Given the description of an element on the screen output the (x, y) to click on. 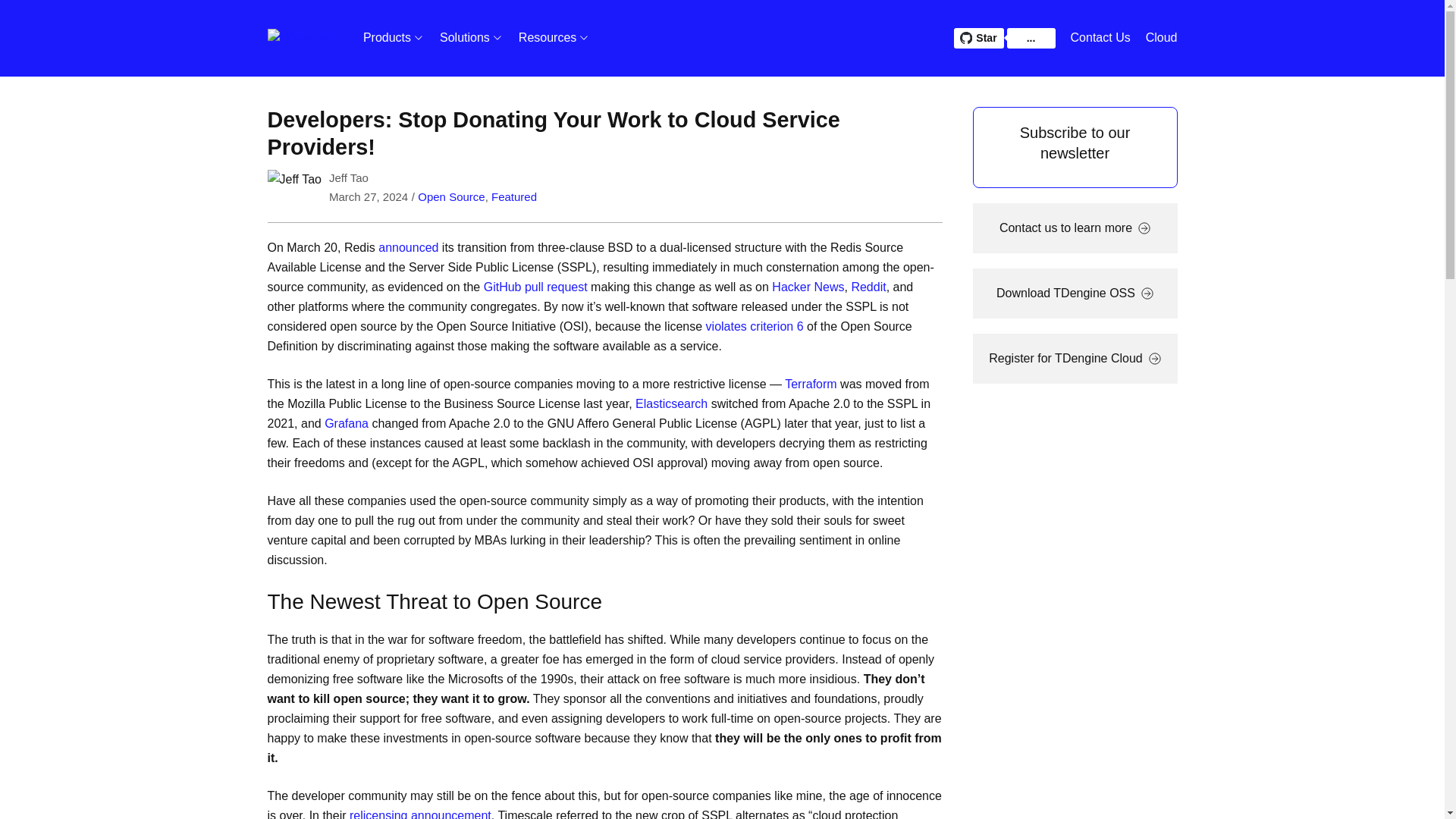
Cloud (1161, 37)
Resources (553, 37)
Solutions (470, 37)
Products (388, 37)
... (1031, 37)
Star (978, 37)
Contact Us (1100, 37)
